Given the description of an element on the screen output the (x, y) to click on. 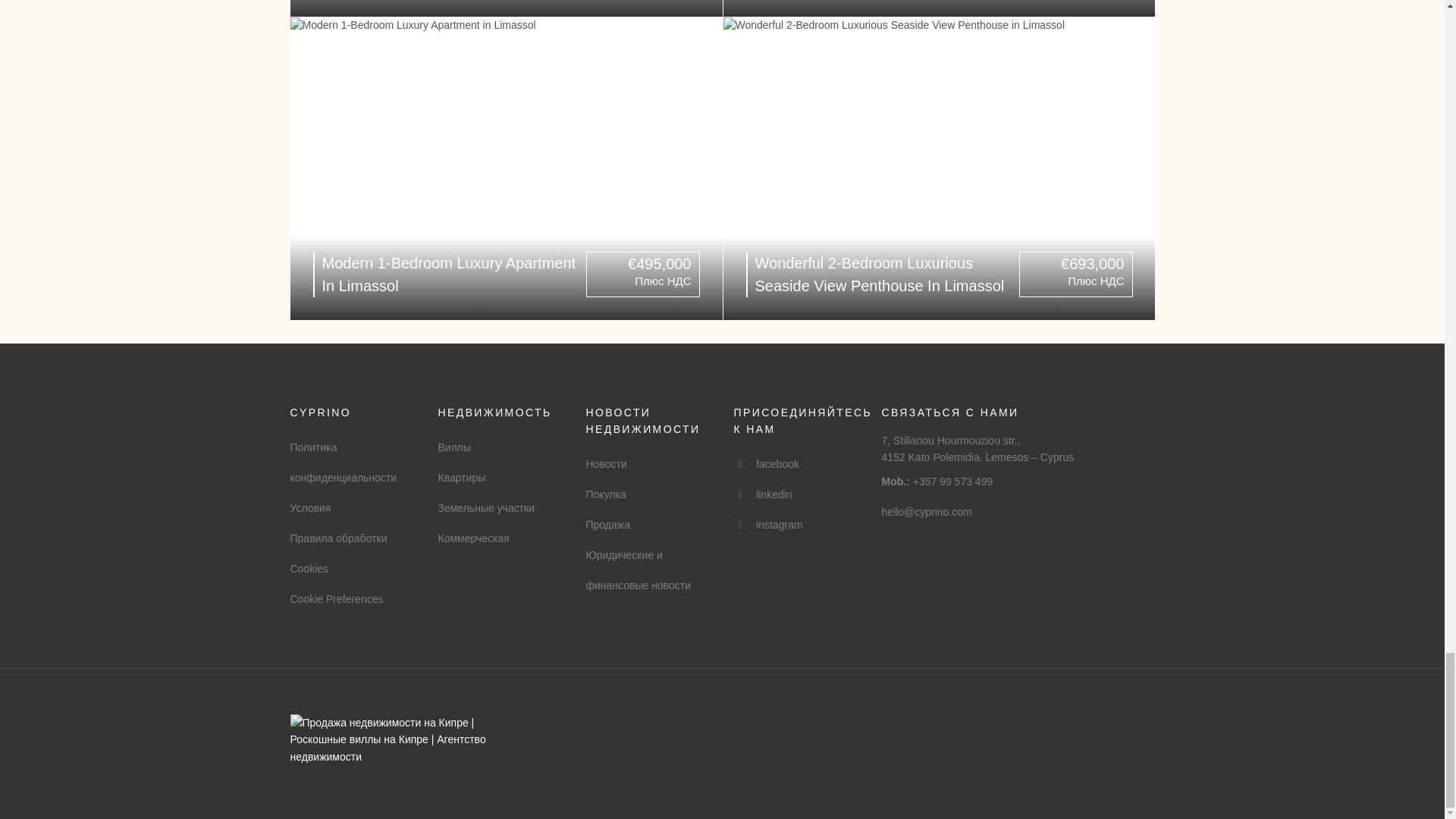
Cookie Preferences (335, 598)
Modern 1-Bedroom Luxury Apartment in Limassol (505, 168)
Stunning 1-Bedroom Luxurious Apartment in Limassol (505, 8)
Amazing 2-Bedroom Luxurious Penthouse in Limassol (939, 8)
